Given the description of an element on the screen output the (x, y) to click on. 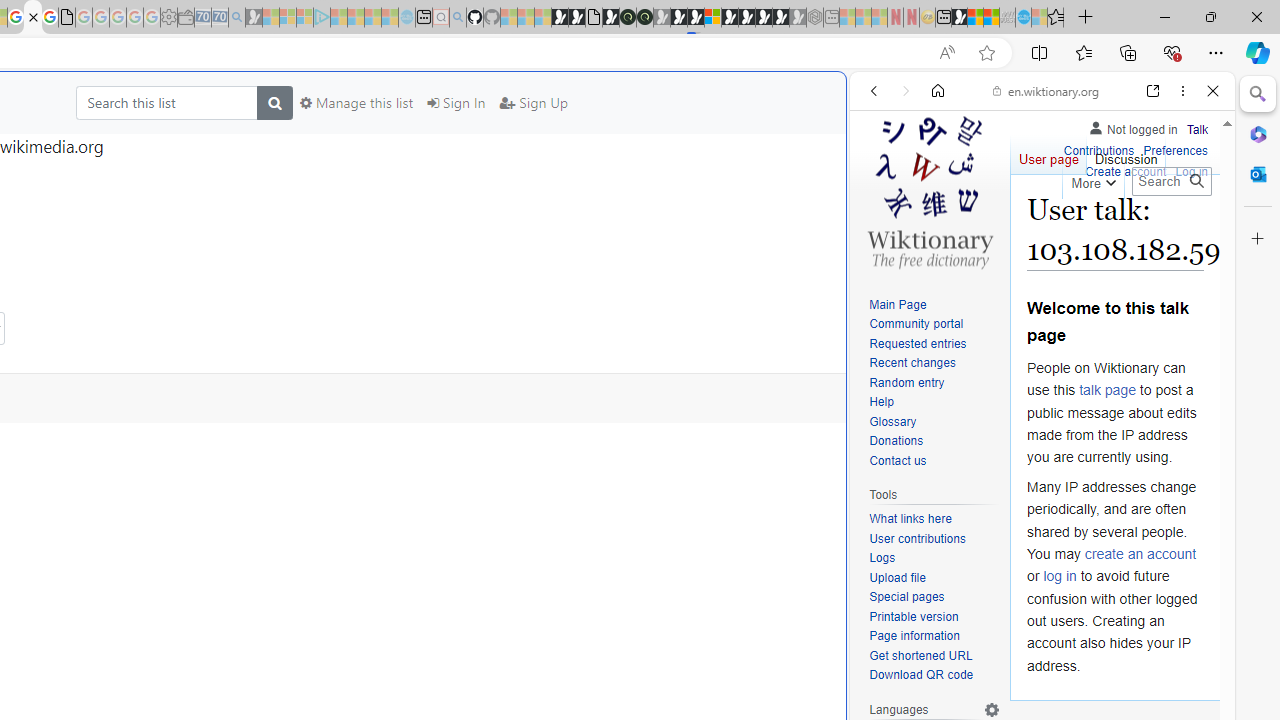
Printable version (913, 616)
Donations (934, 442)
Create account (1125, 172)
Random entry (934, 382)
Talk (1197, 129)
